Given the description of an element on the screen output the (x, y) to click on. 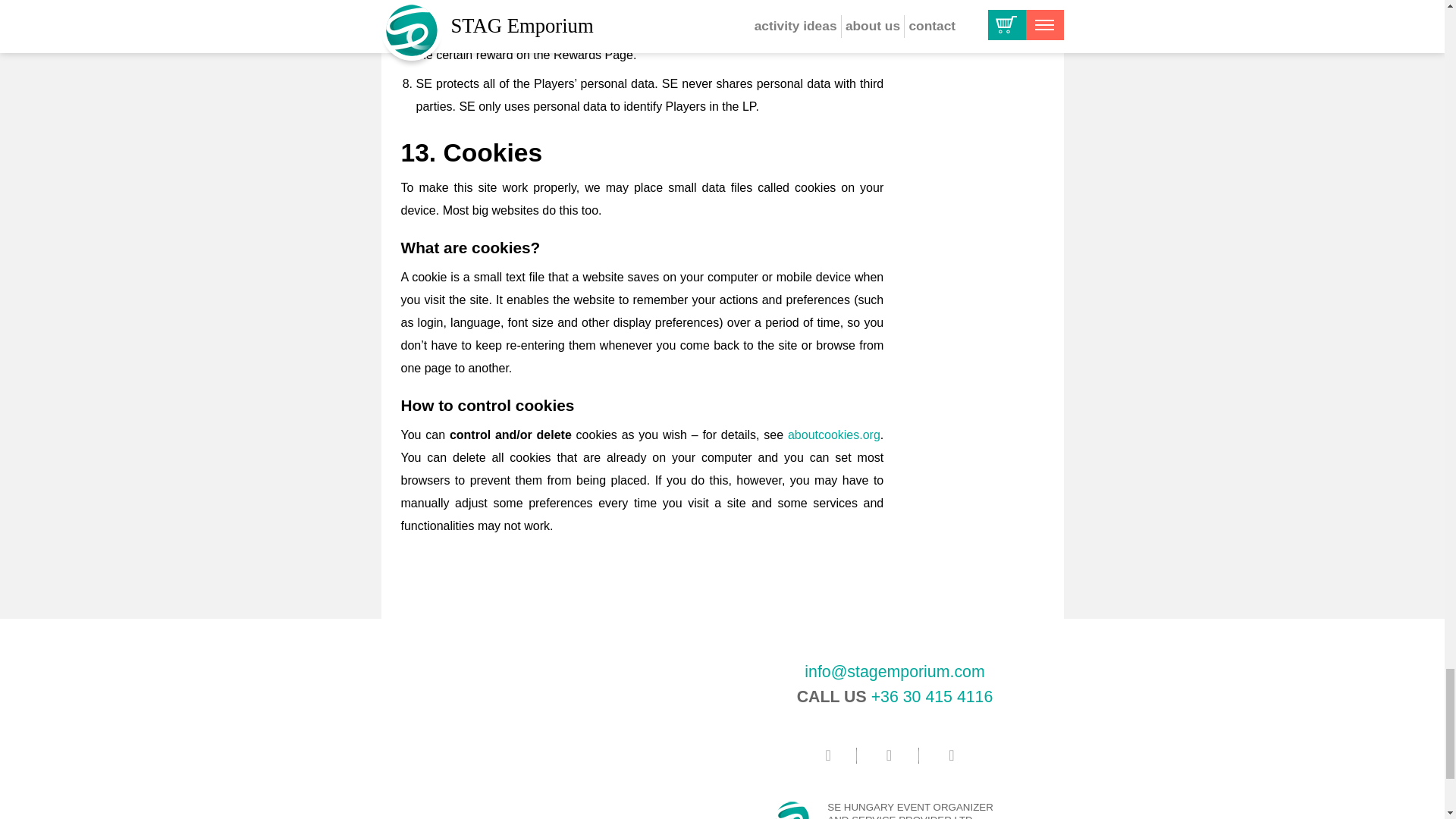
aboutcookies.org (833, 434)
